Given the description of an element on the screen output the (x, y) to click on. 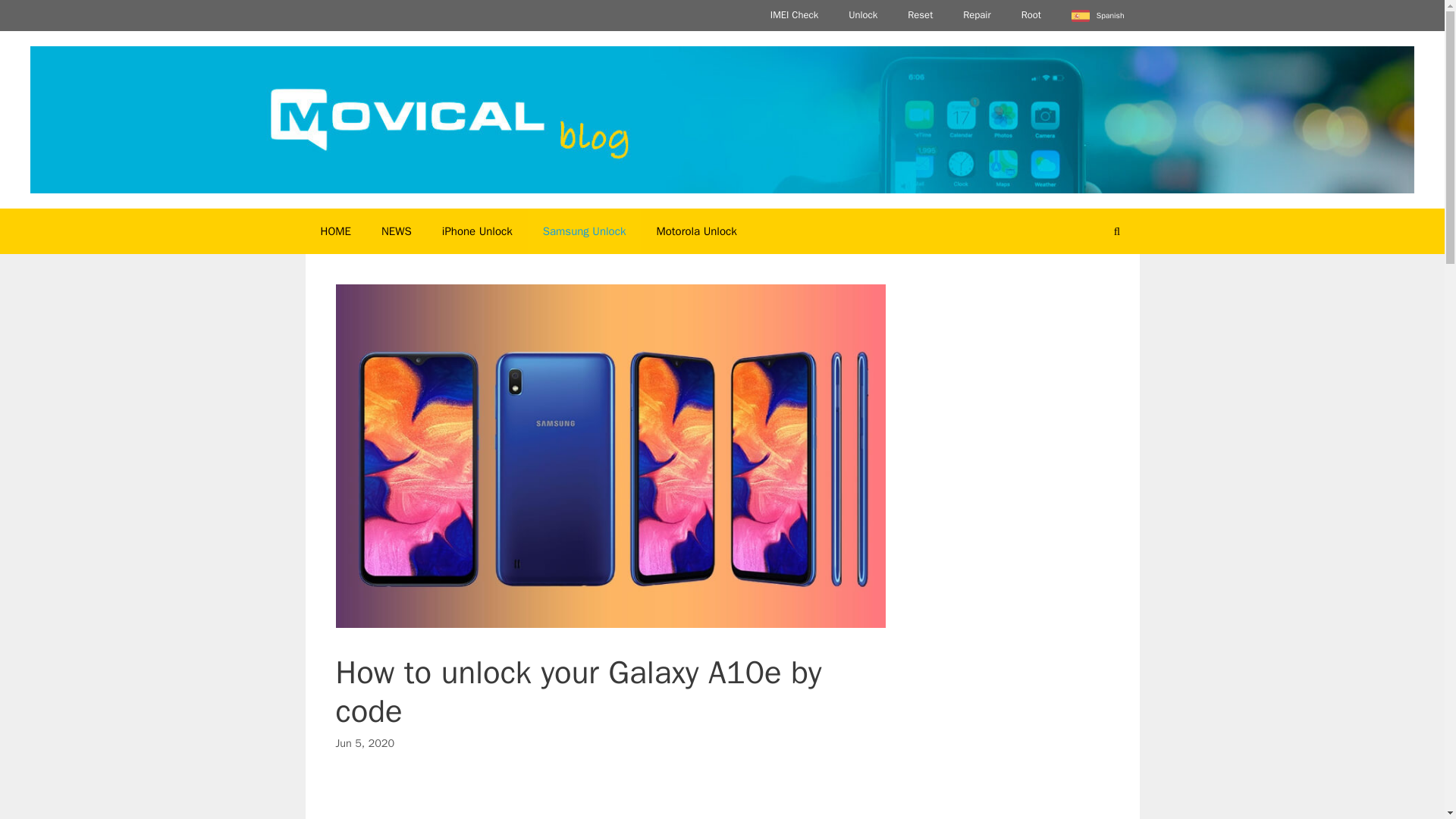
Spanish (1098, 15)
Advertisement (609, 798)
Advertisement (1012, 790)
Repair (976, 15)
IMEI Check (793, 15)
Root (1031, 15)
NEWS (396, 230)
Samsung Unlock (584, 230)
Reset (919, 15)
iPhone Unlock (476, 230)
